Given the description of an element on the screen output the (x, y) to click on. 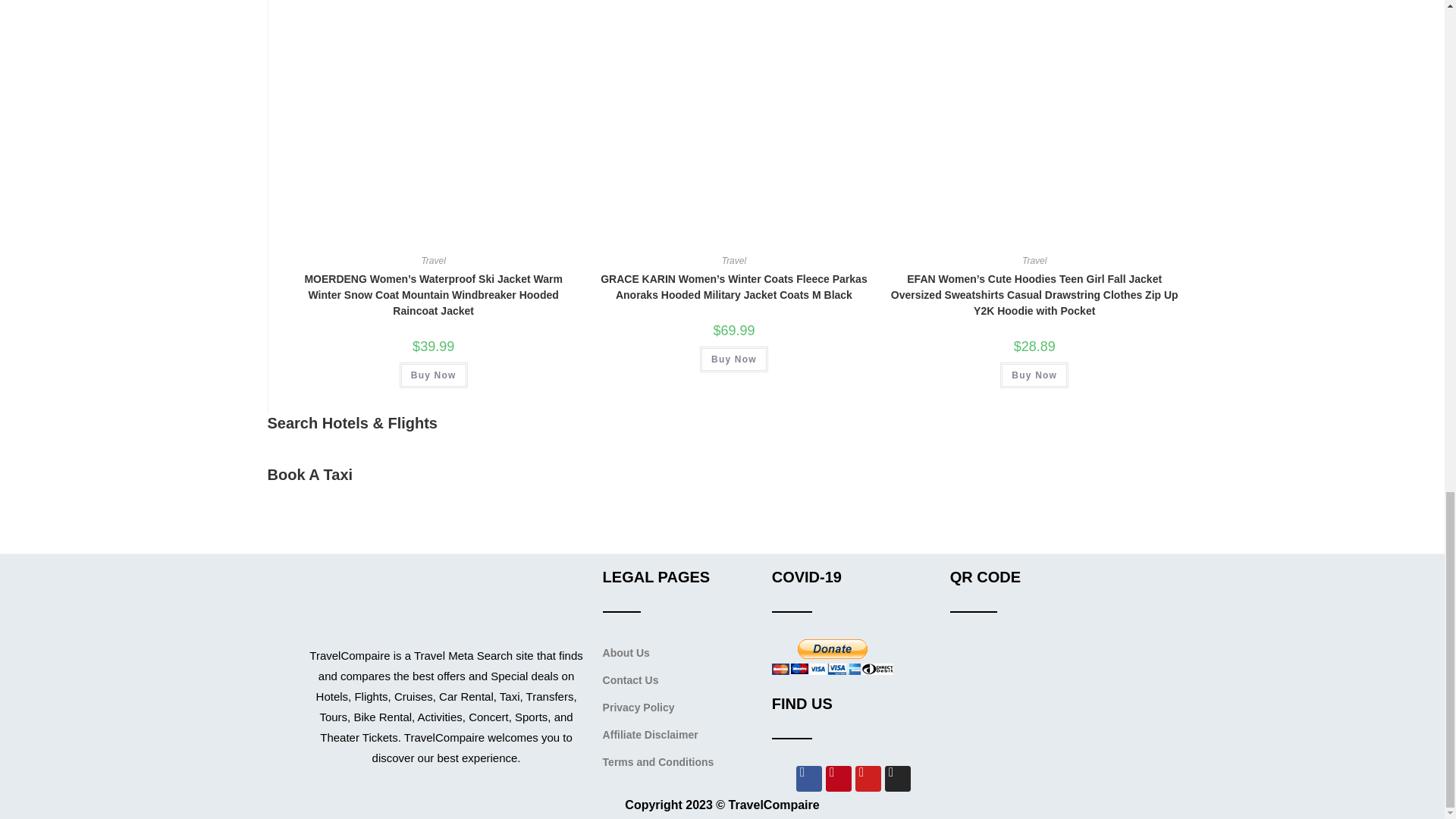
qr (1026, 715)
